Given the description of an element on the screen output the (x, y) to click on. 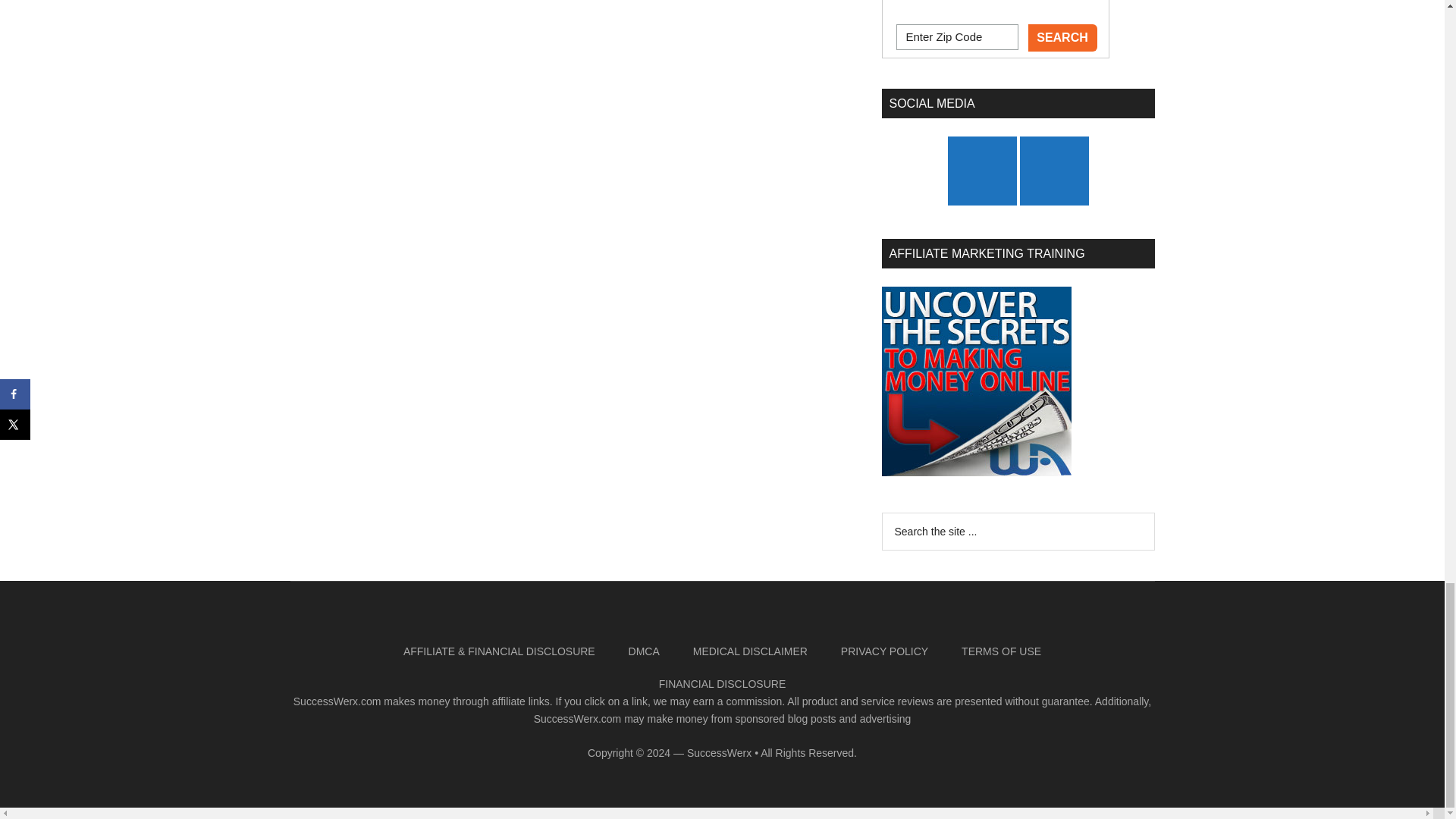
SuccessWerx (719, 752)
Affiliate Marketing Training (975, 380)
Search (1062, 37)
